Given the description of an element on the screen output the (x, y) to click on. 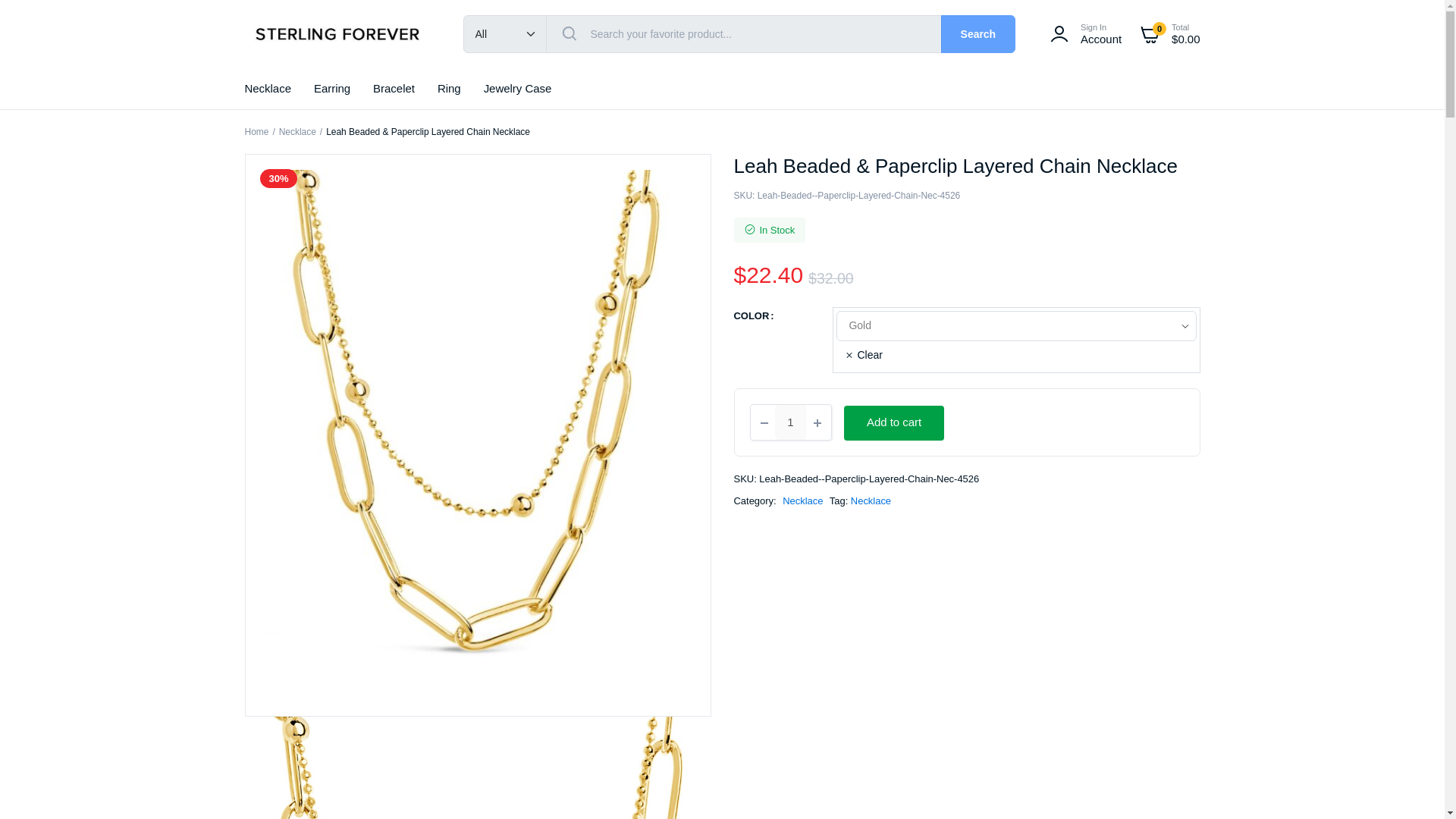
Necklace (297, 131)
Earring (331, 87)
Home (255, 131)
Add to cart (893, 422)
Clear (863, 355)
1 (790, 421)
Search (978, 34)
Bracelet (393, 87)
Necklace (266, 87)
Jewelry Case (517, 87)
Necklace (870, 500)
Ring (448, 87)
Necklace (802, 500)
ACCESSORIESDEALERS (338, 33)
